Given the description of an element on the screen output the (x, y) to click on. 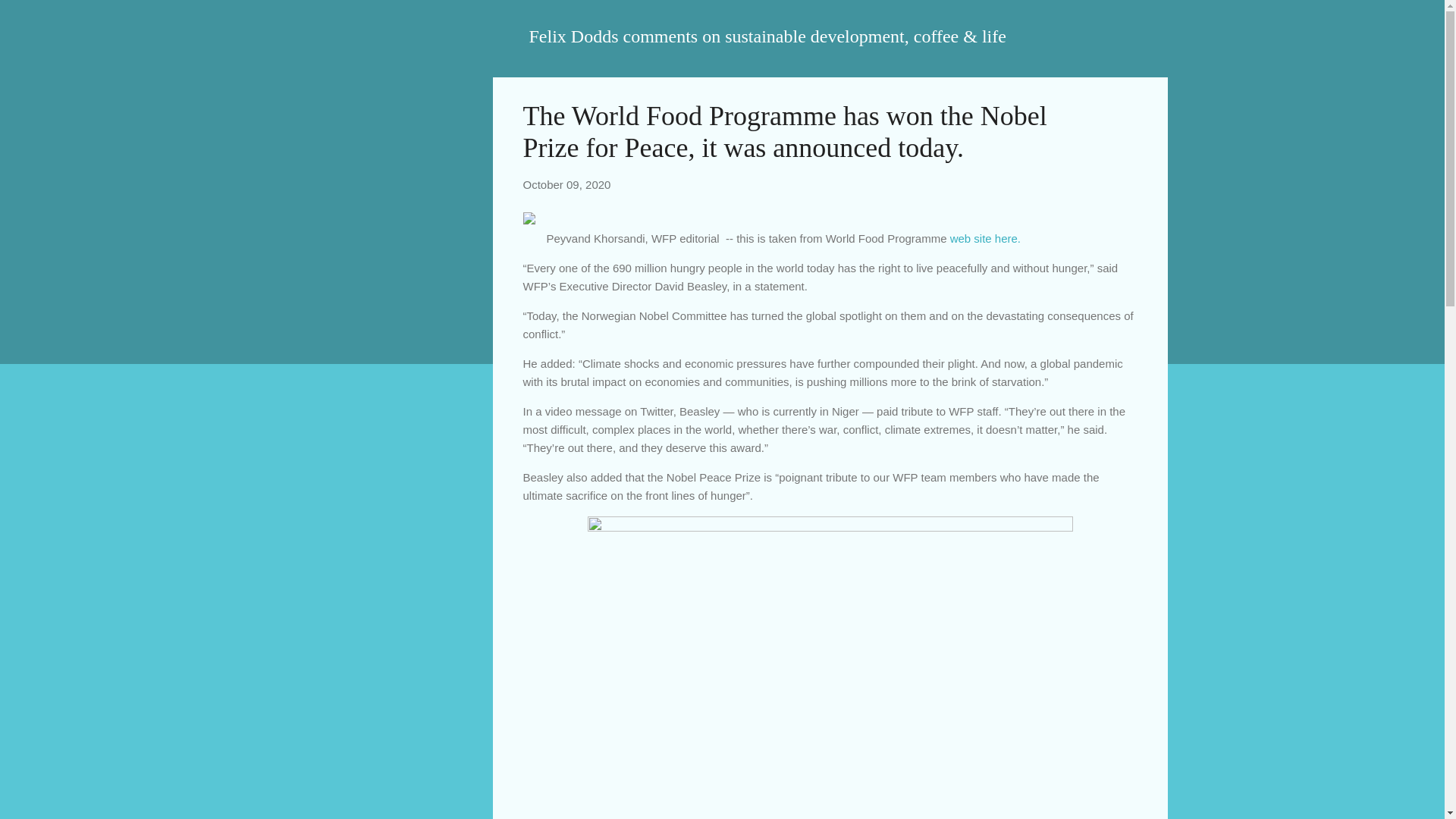
October 09, 2020 (566, 184)
web site here.  (987, 237)
Search (29, 18)
permanent link (566, 184)
